Given the description of an element on the screen output the (x, y) to click on. 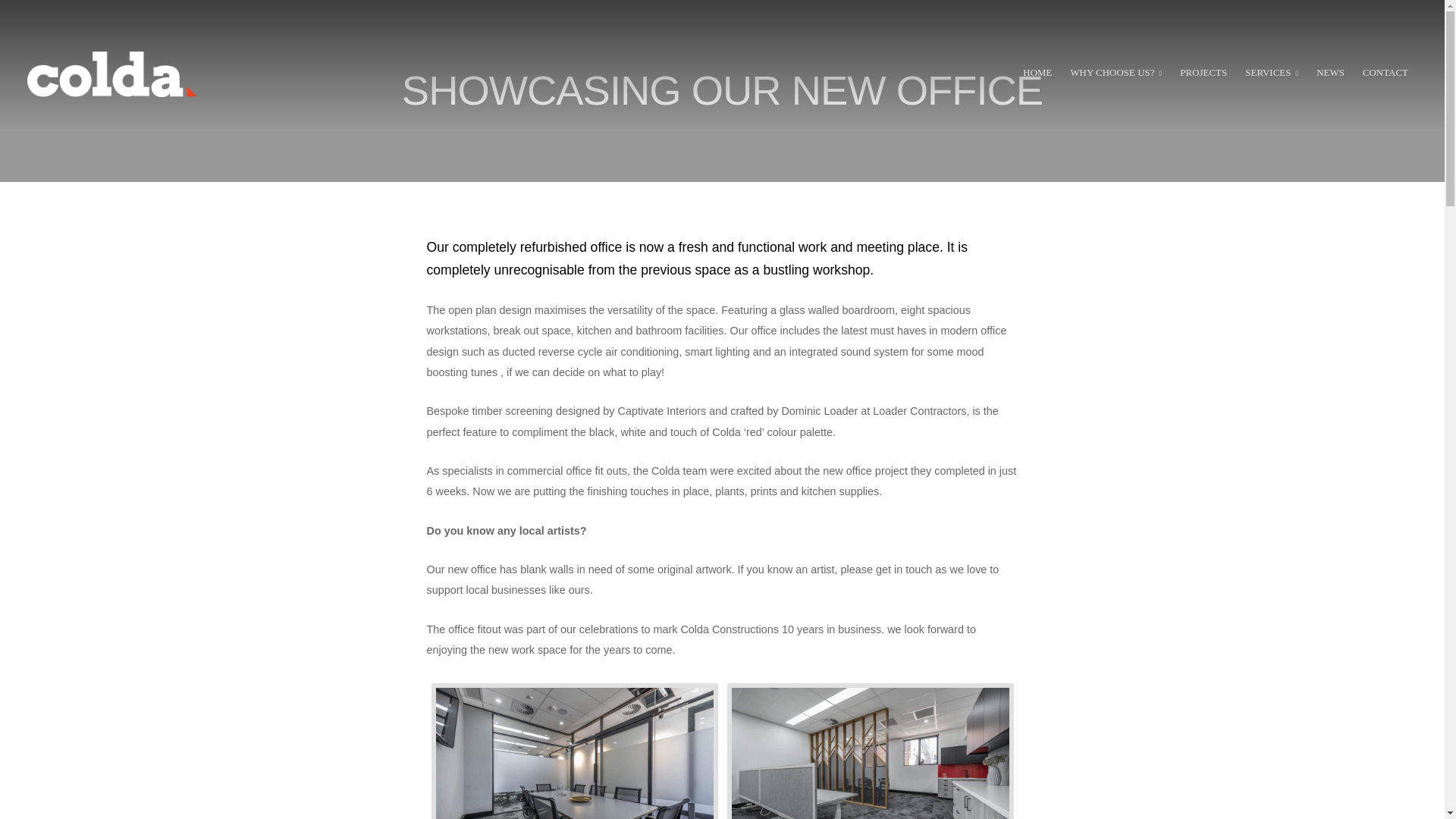
NEWS (1329, 73)
WHY CHOOSE US? (1115, 73)
PROJECTS (1203, 73)
HOME (1037, 73)
SERVICES (1271, 73)
CONTACT (1384, 73)
